Given the description of an element on the screen output the (x, y) to click on. 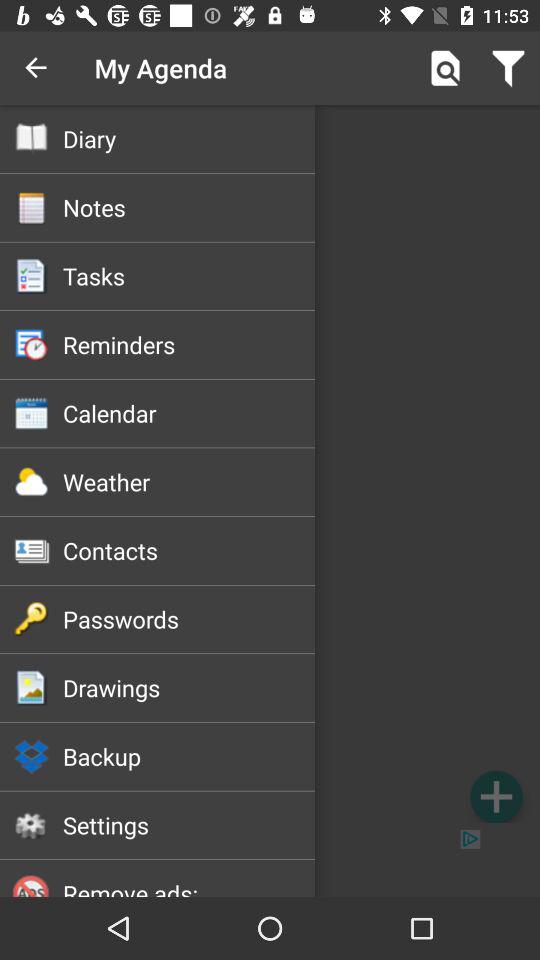
choose icon below the calendar (188, 482)
